Given the description of an element on the screen output the (x, y) to click on. 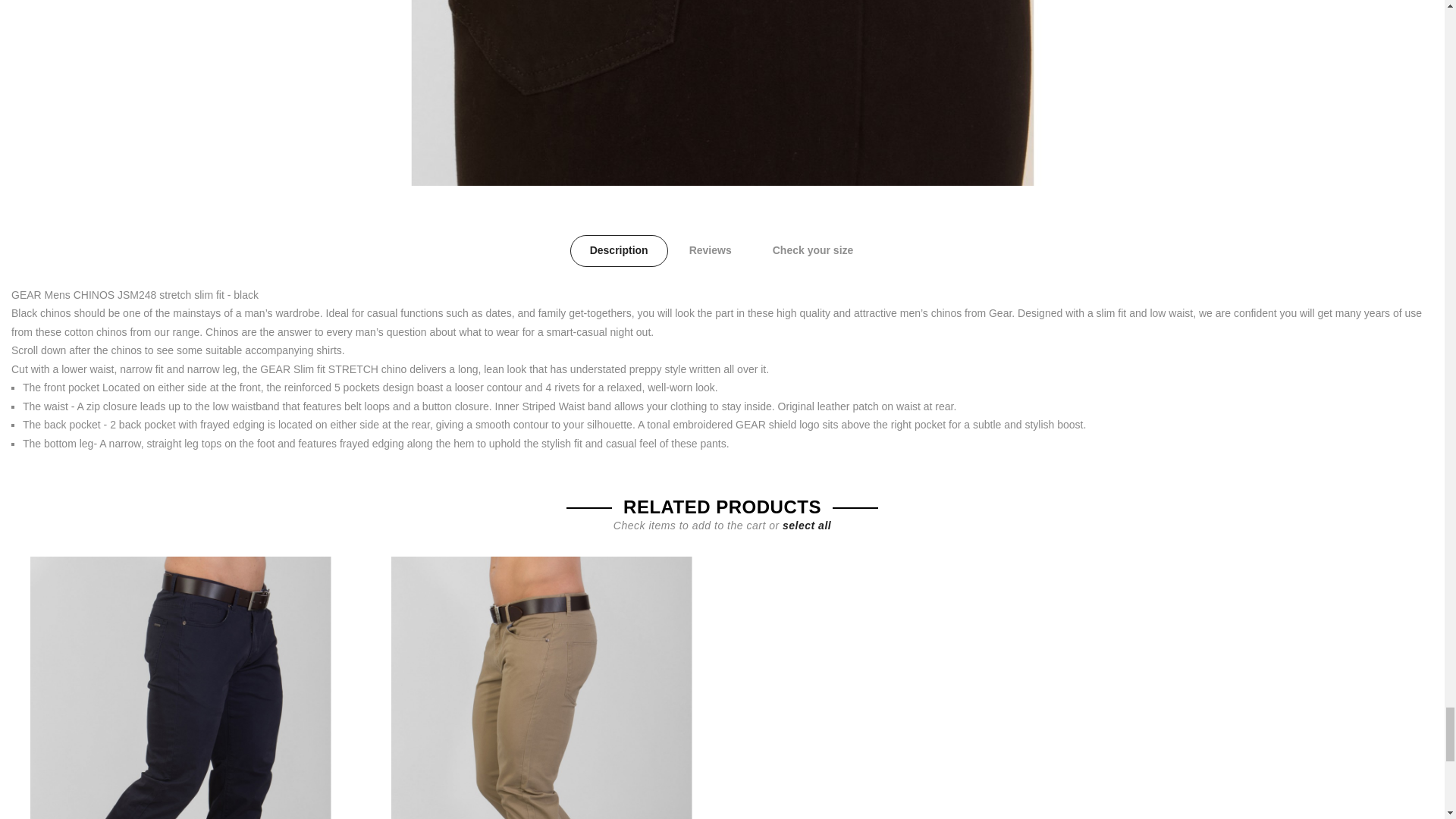
CHINOS JSM248 stretch slim fit -navy (180, 687)
CHINOS JSM248 stretch slim fit- beige (541, 687)
